Given the description of an element on the screen output the (x, y) to click on. 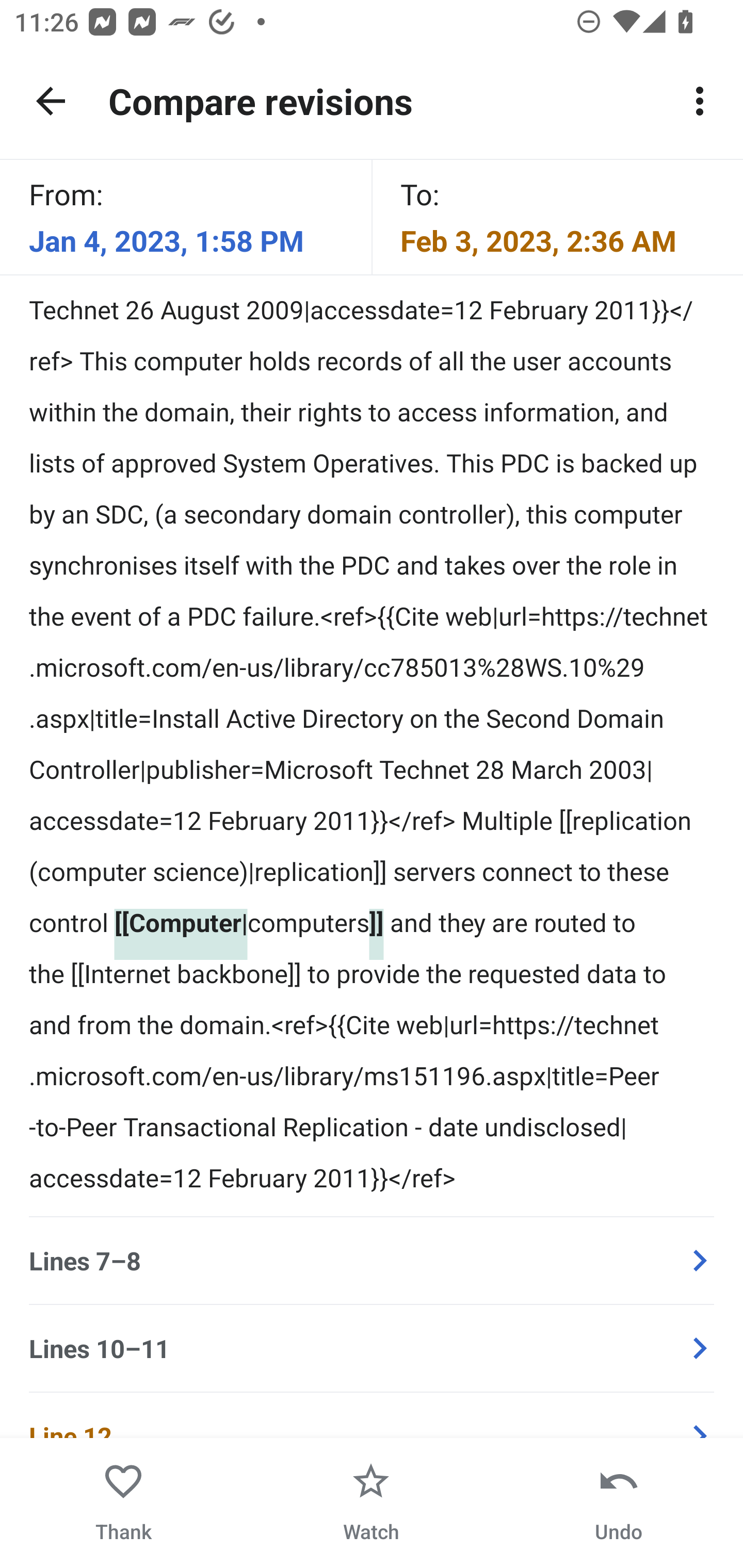
Navigate up (50, 101)
More options (699, 101)
Lines 7–8 (371, 1260)
Lines 10–11 (371, 1348)
Thank (123, 1502)
Watch (370, 1502)
Undo (618, 1502)
